Given the description of an element on the screen output the (x, y) to click on. 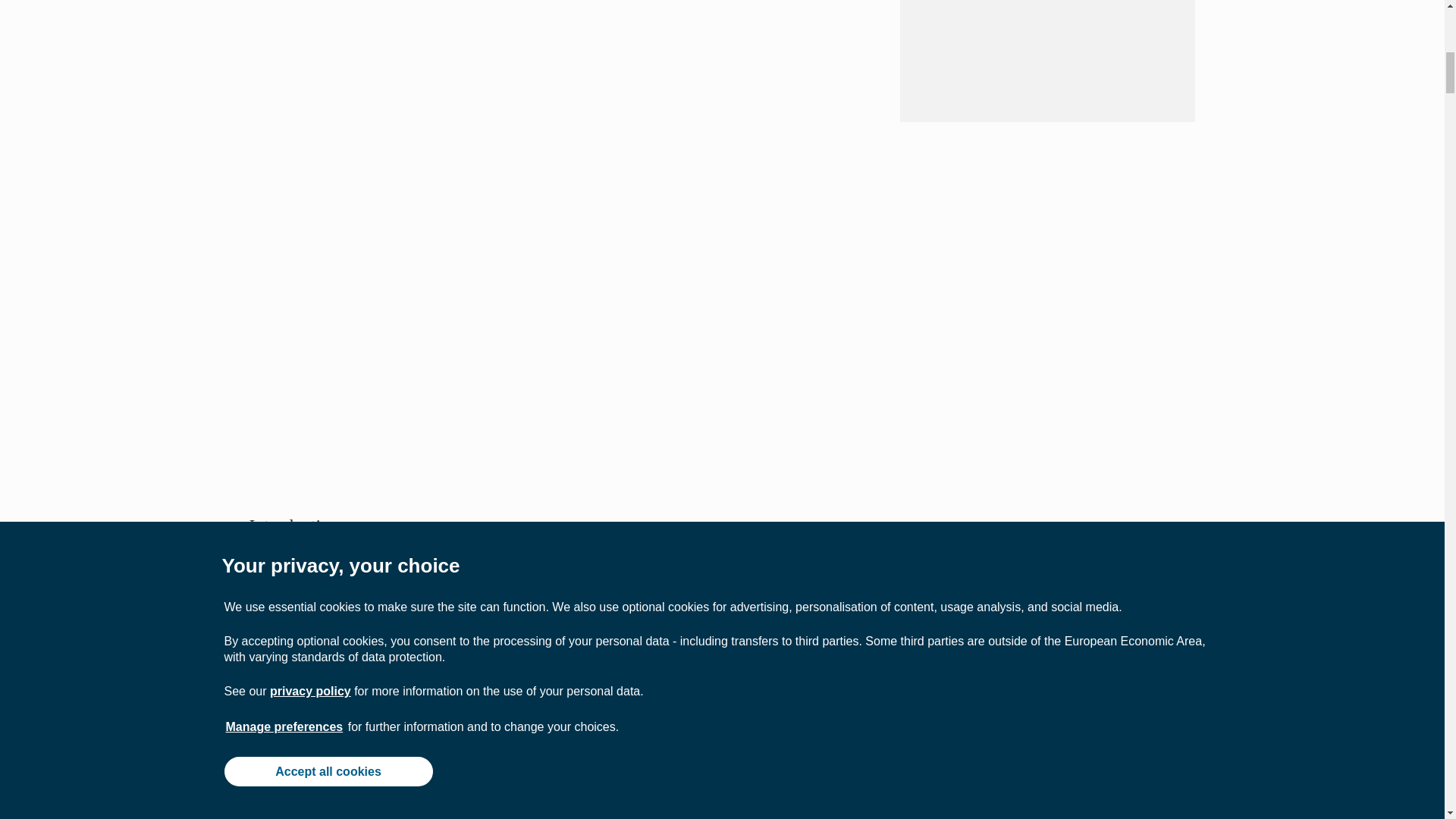
2017 (305, 765)
2015 (351, 683)
2017 (658, 601)
2018 (444, 724)
2016 (764, 601)
2011 (729, 663)
2011 (640, 663)
